Given the description of an element on the screen output the (x, y) to click on. 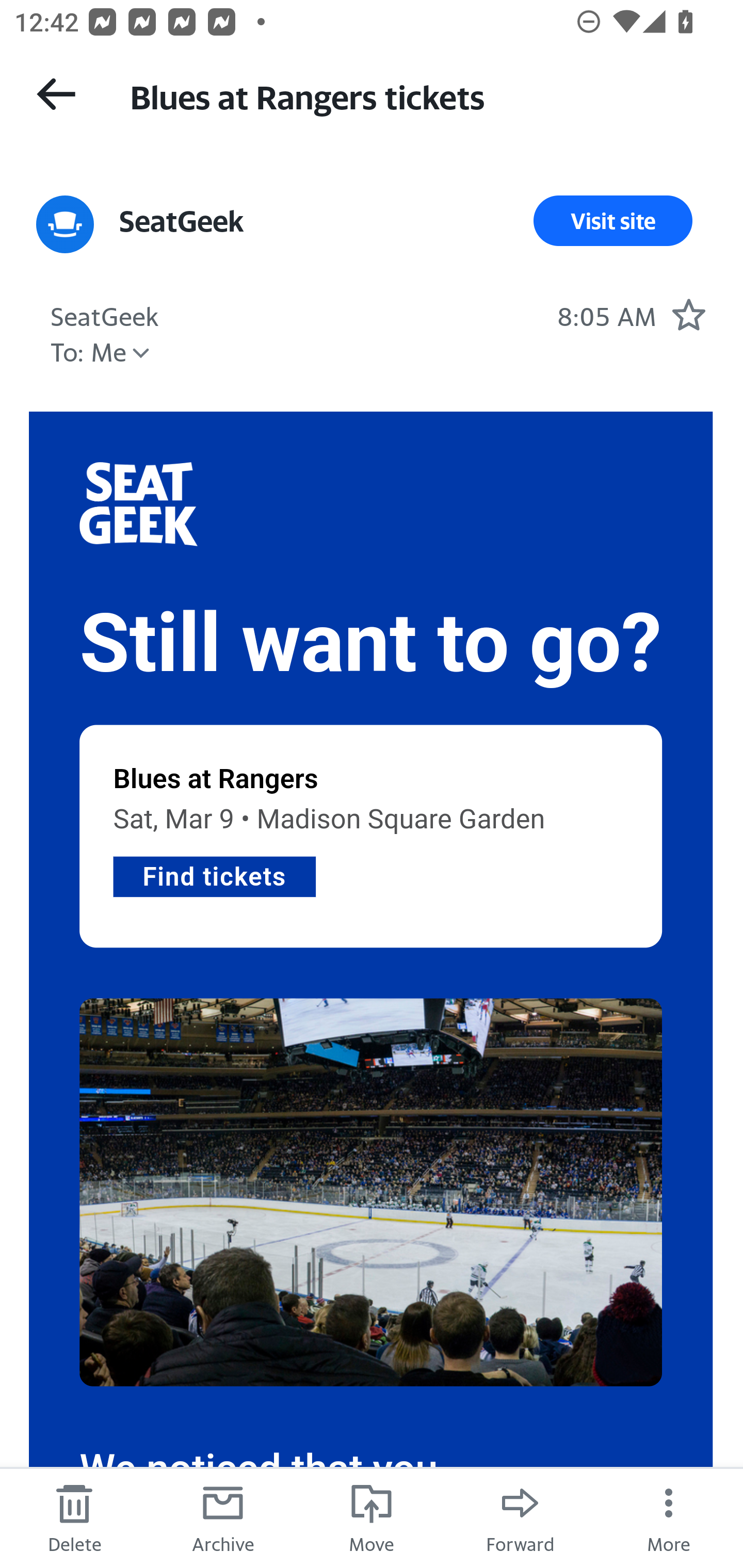
Back (55, 93)
Blues at Rangers tickets (418, 94)
View all messages from sender (64, 225)
Visit site Visit Site Link (612, 221)
SeatGeek Sender SeatGeek (181, 220)
SeatGeek Sender SeatGeek (104, 314)
Mark as starred. (688, 314)
Still want to go? (370, 643)
Blues at Rangers (215, 779)
Find tickets (213, 875)
Delete (74, 1517)
Archive (222, 1517)
Move (371, 1517)
Forward (519, 1517)
More (668, 1517)
